Given the description of an element on the screen output the (x, y) to click on. 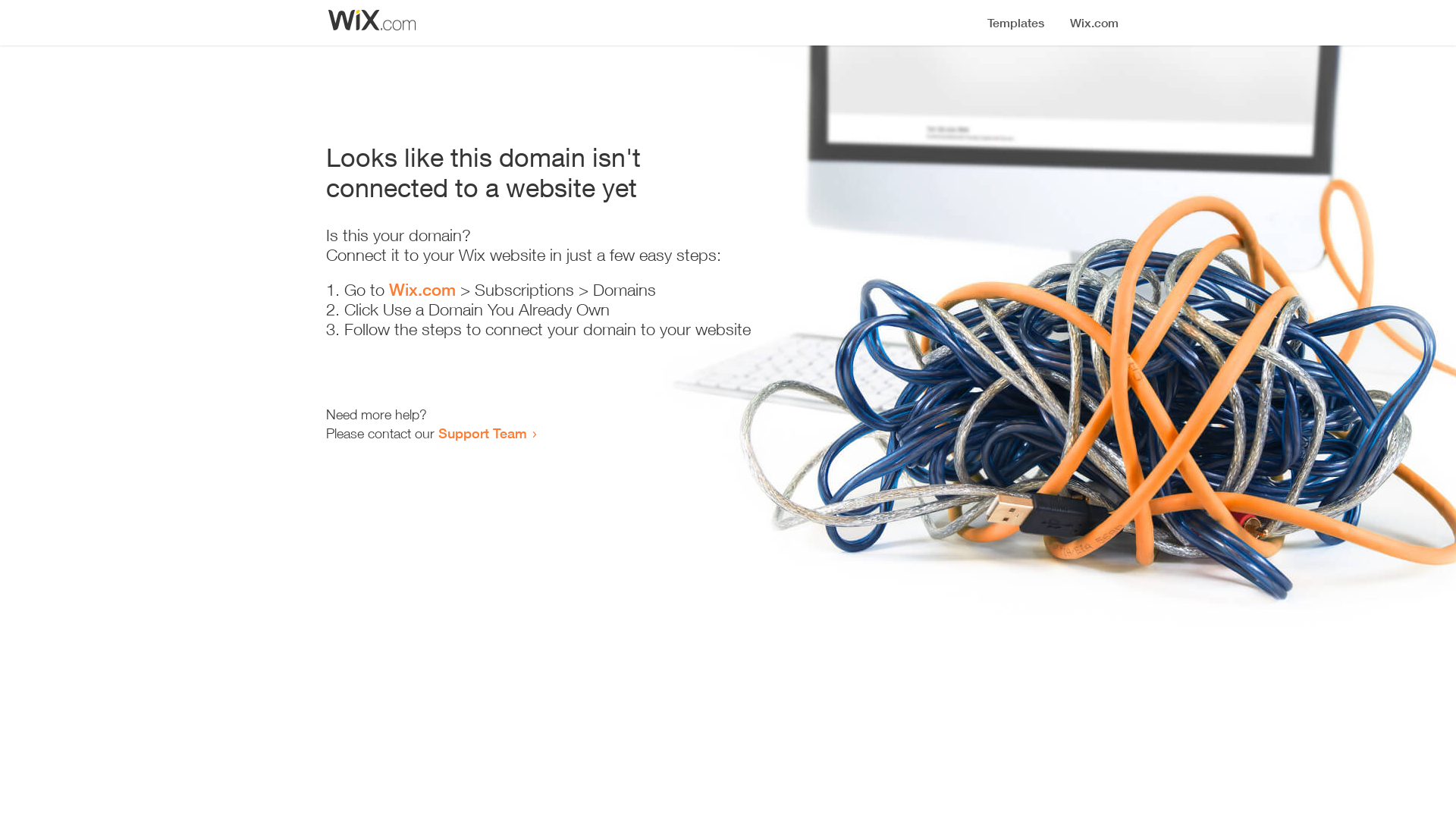
Support Team Element type: text (482, 432)
Wix.com Element type: text (422, 289)
